Given the description of an element on the screen output the (x, y) to click on. 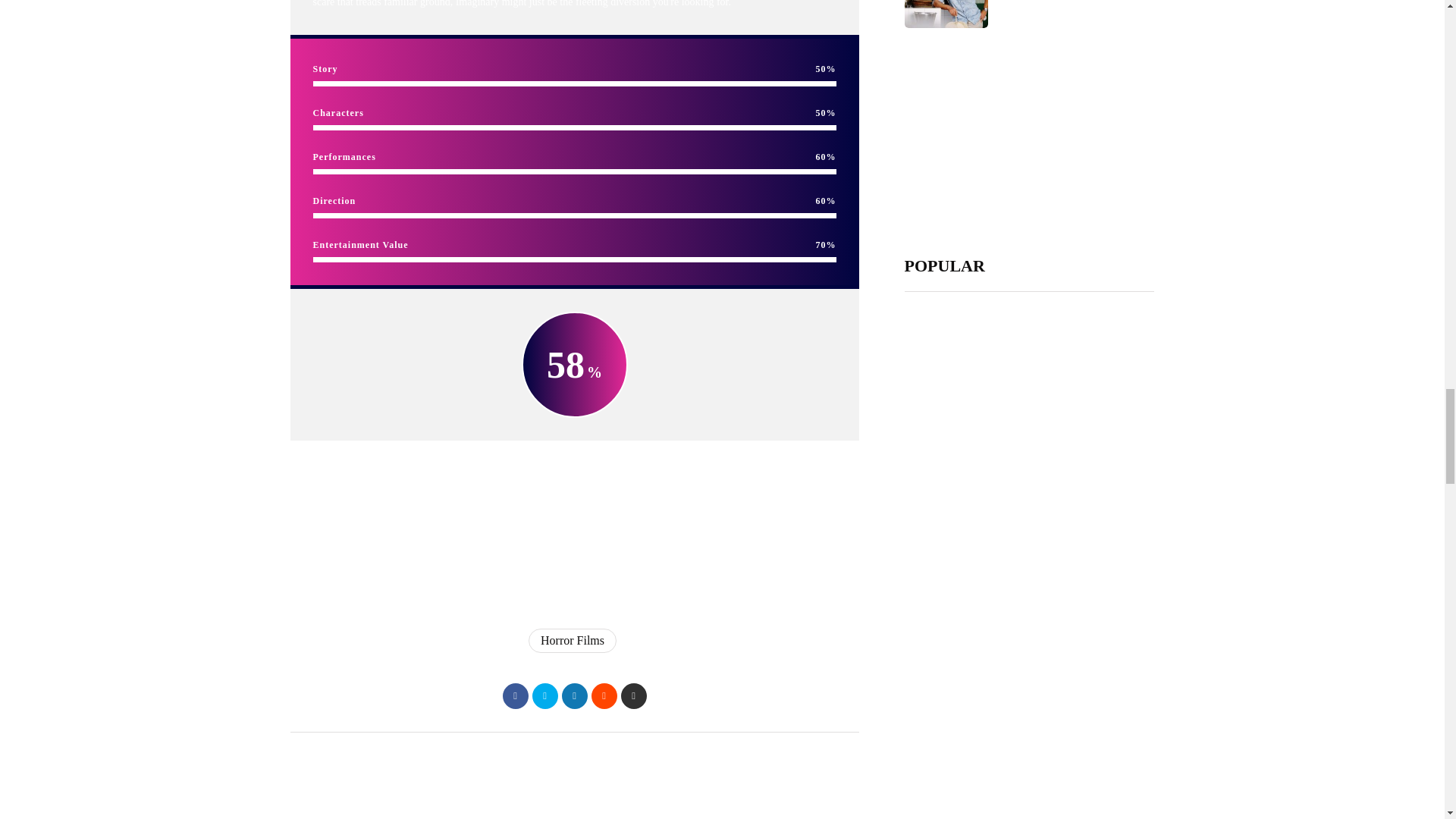
Share on Reddit (604, 696)
Share with LinkedIn (573, 696)
Tweet this (544, 696)
Horror Films (571, 640)
Share with Facebook (514, 696)
Share by Email (633, 696)
